Given the description of an element on the screen output the (x, y) to click on. 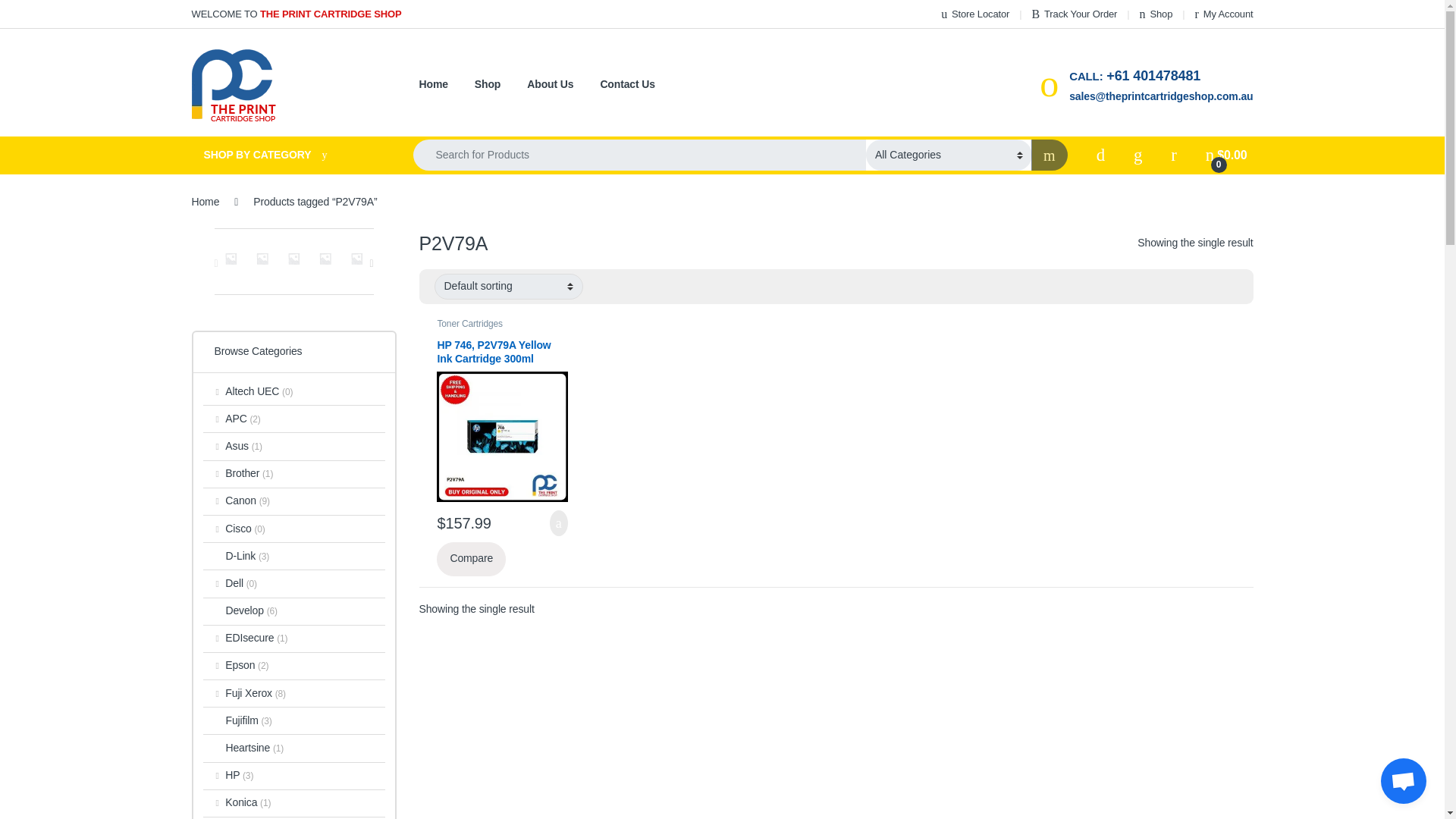
Shop (1156, 13)
Shop (1156, 13)
My Account (1224, 13)
Track Your Order (1073, 13)
Store Locator (974, 13)
Store Locator (974, 13)
WELCOME TO THE PRINT CARTRIDGE SHOP (295, 13)
My Account (1224, 13)
Track Your Order (1073, 13)
